Given the description of an element on the screen output the (x, y) to click on. 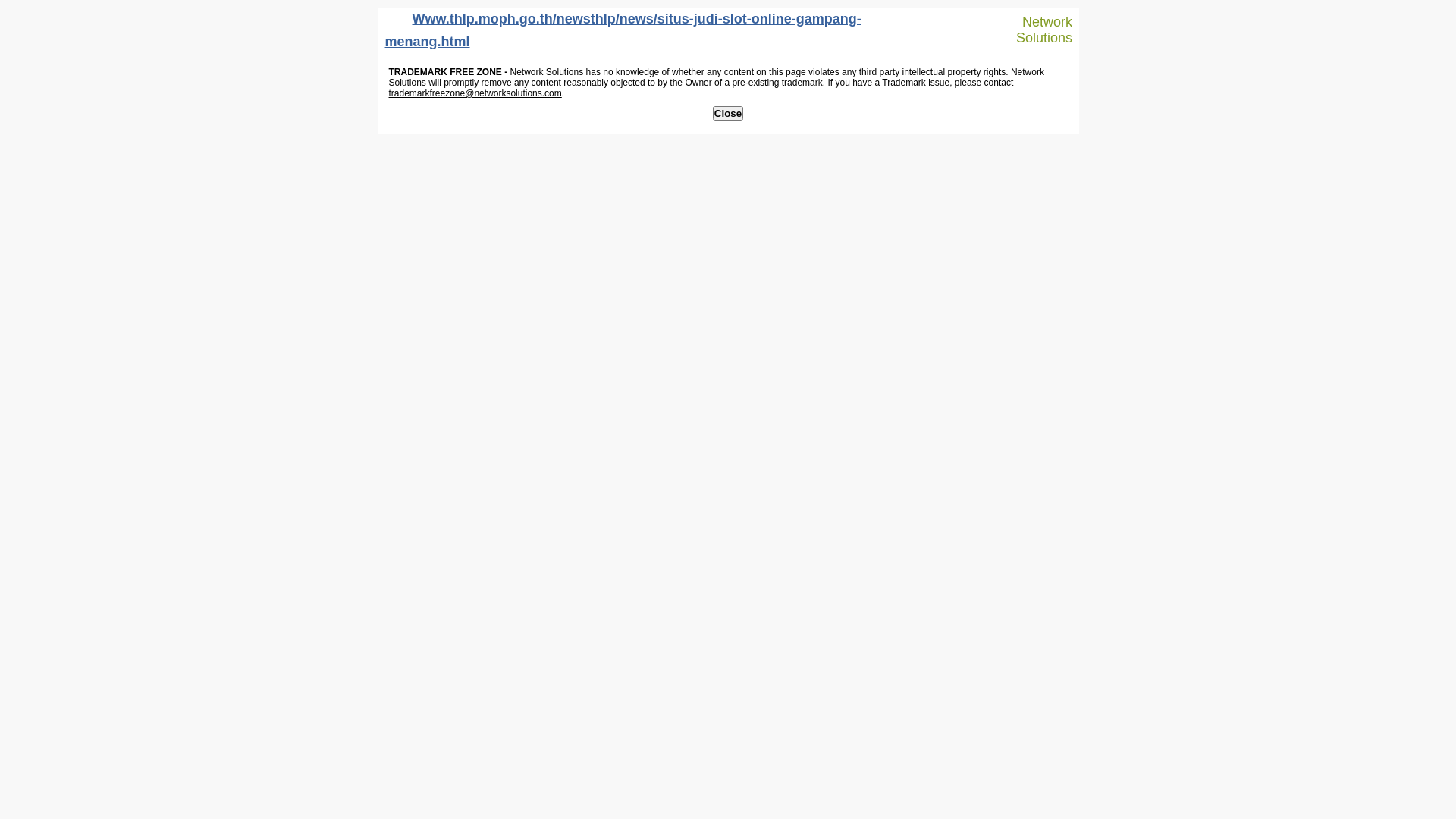
trademarkfreezone@networksolutions.com Element type: text (474, 92)
Close Element type: text (727, 113)
Network Solutions Element type: text (1037, 29)
